Given the description of an element on the screen output the (x, y) to click on. 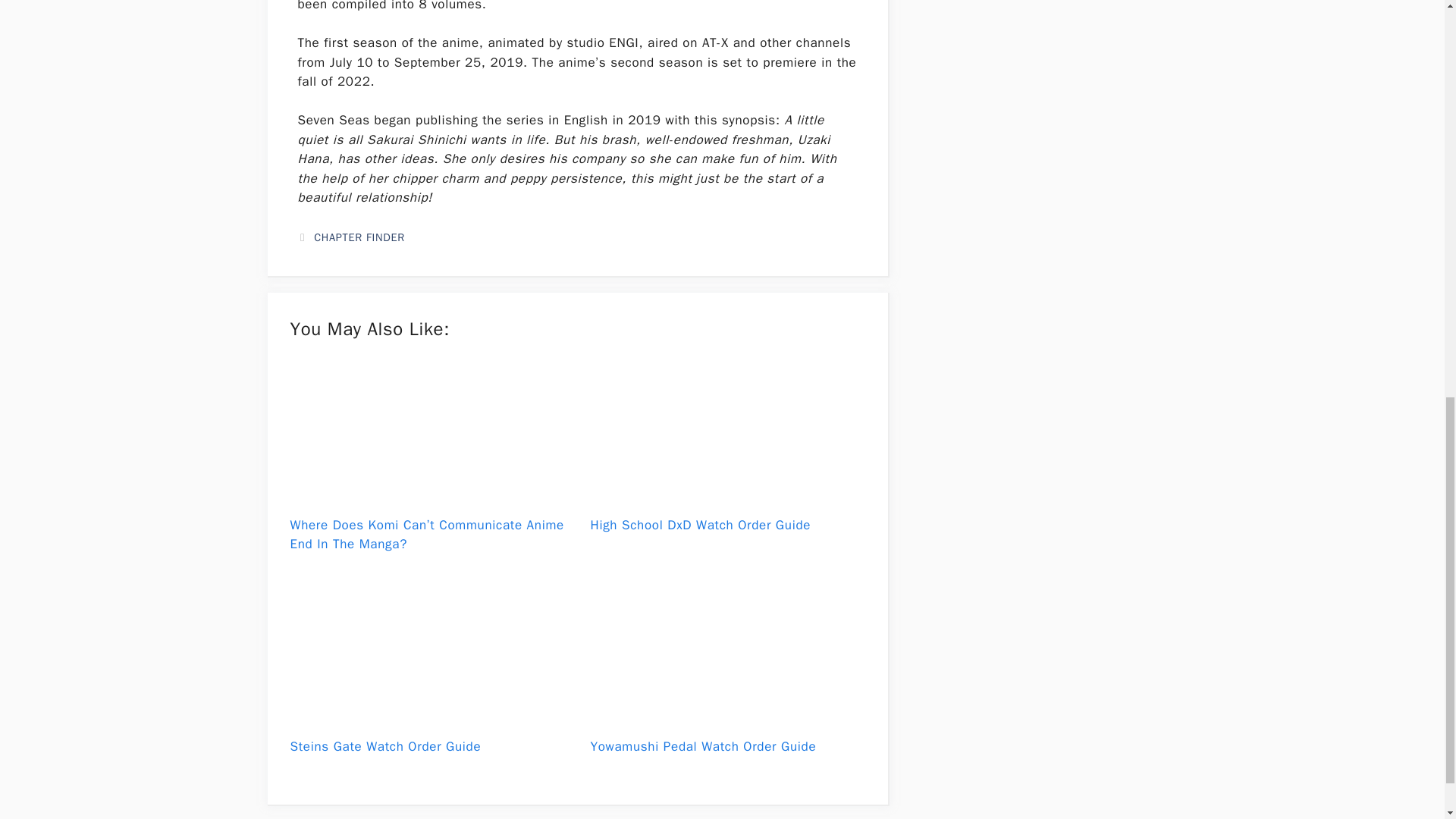
Steins Gate Watch Order Guide (384, 746)
Steins Gate Watch Order Guide (426, 713)
CHAPTER FINDER (359, 237)
Yowamushi Pedal Watch Order Guide (726, 713)
High School DxD Watch Order Guide (726, 492)
High School DxD Watch Order Guide (699, 524)
Yowamushi Pedal Watch Order Guide (702, 746)
